Given the description of an element on the screen output the (x, y) to click on. 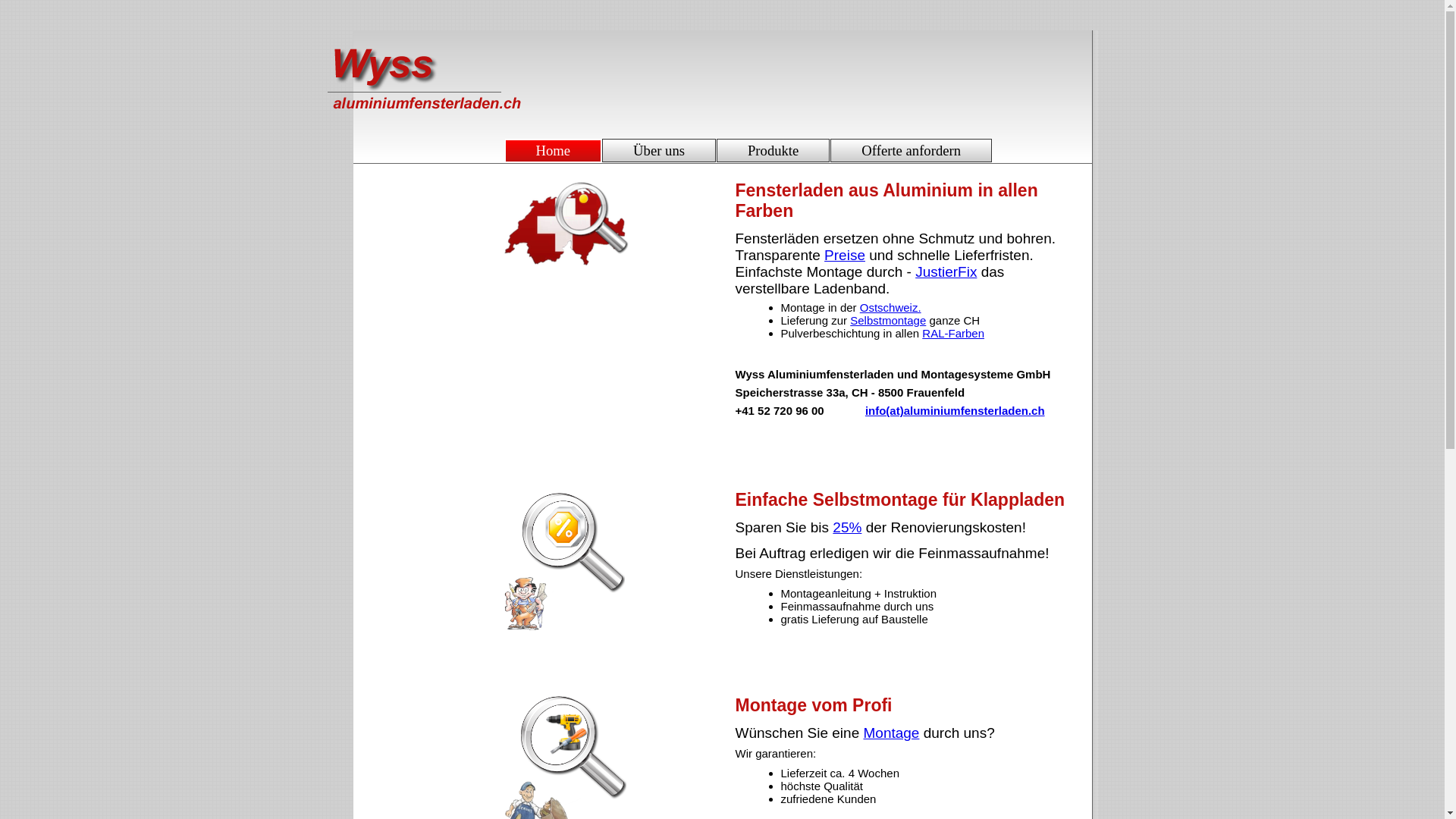
25% Element type: text (846, 527)
Ostschweiz. Element type: text (890, 307)
info(at)aluminiumfensterladen.ch Element type: text (954, 410)
JustierFix Element type: text (945, 271)
Preise Element type: text (844, 255)
Offerte anfordern Element type: text (911, 150)
Produkte Element type: text (772, 150)
Selbstmontage Element type: text (887, 319)
Montage Element type: text (890, 732)
Home Element type: text (552, 150)
RAL-Farben Element type: text (953, 332)
